Given the description of an element on the screen output the (x, y) to click on. 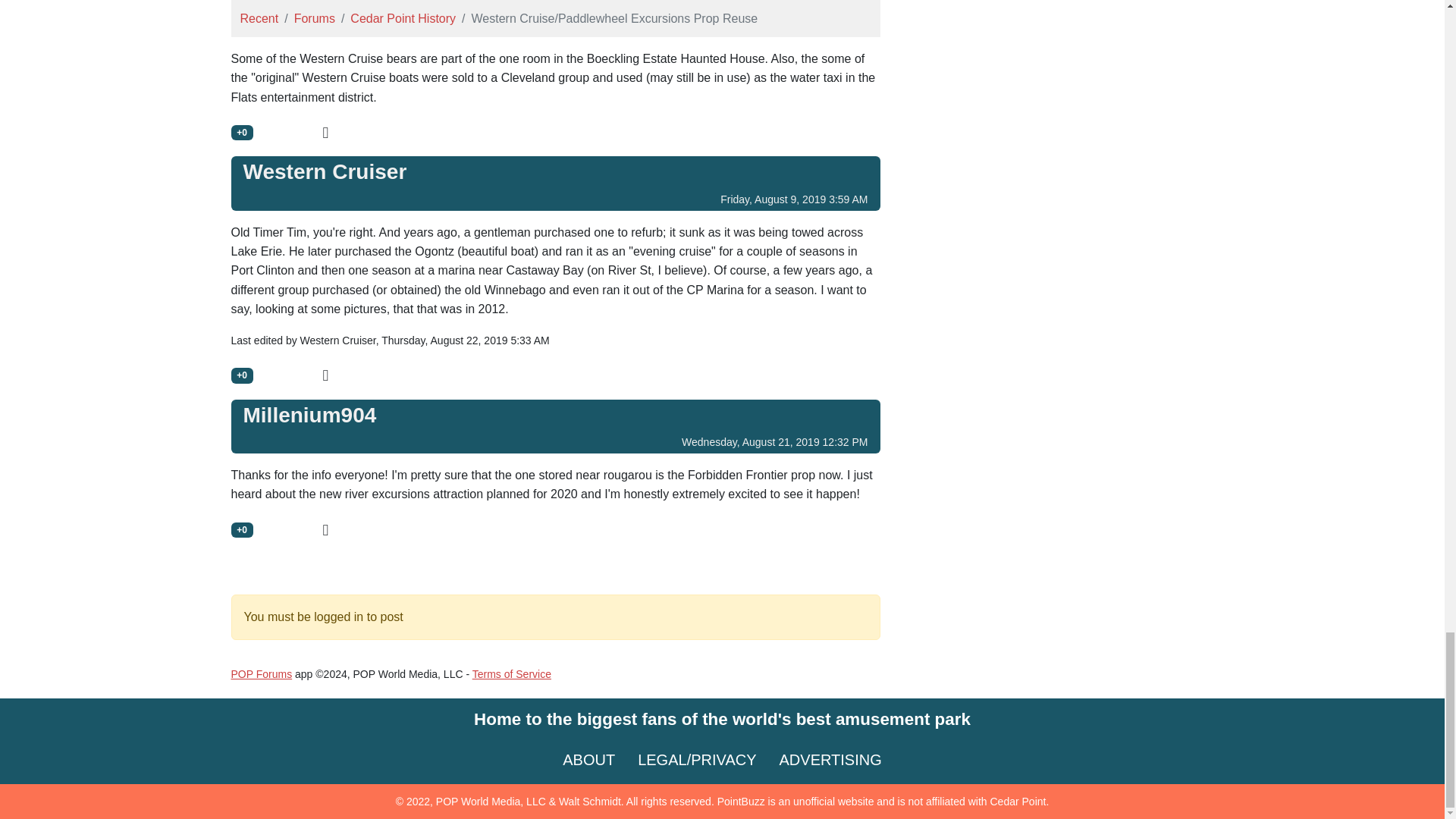
POP Forums (261, 674)
Terms of Service (511, 674)
ABOUT (588, 759)
